Given the description of an element on the screen output the (x, y) to click on. 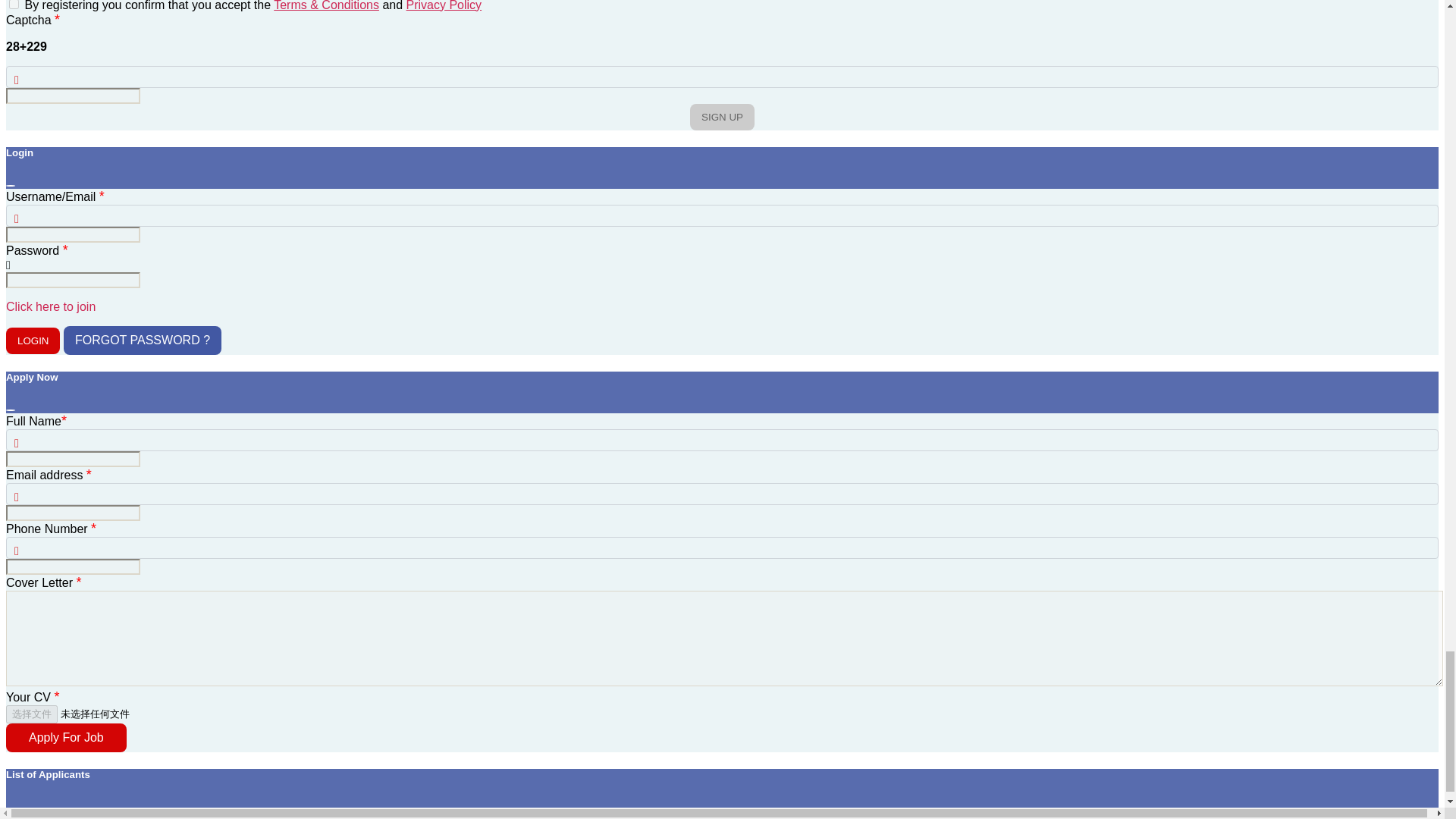
FORGOT PASSWORD ? (142, 339)
LOGIN (32, 340)
Privacy Policy (443, 5)
on (13, 4)
SIGN UP (722, 117)
Click here to join (50, 306)
